Given the description of an element on the screen output the (x, y) to click on. 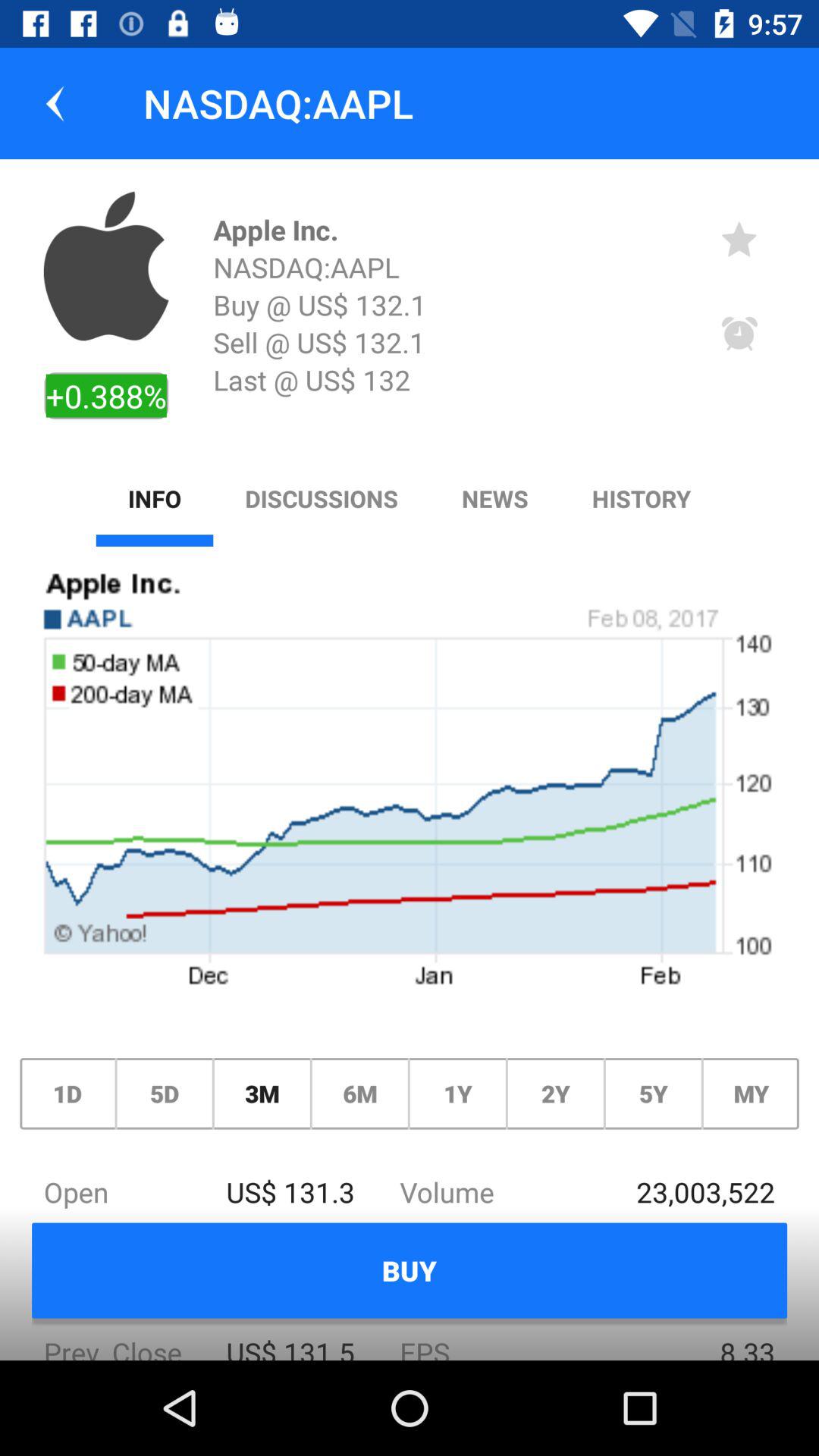
select the iphone symbol (105, 265)
clcik on the alarm icon (739, 333)
select the text between 3m and 1y (359, 1093)
select the first star in the page (739, 238)
select the option next to news in menu bar (641, 499)
select the button which is in between 2y and my (653, 1093)
select the text 1y which is above the volume option (458, 1093)
